Given the description of an element on the screen output the (x, y) to click on. 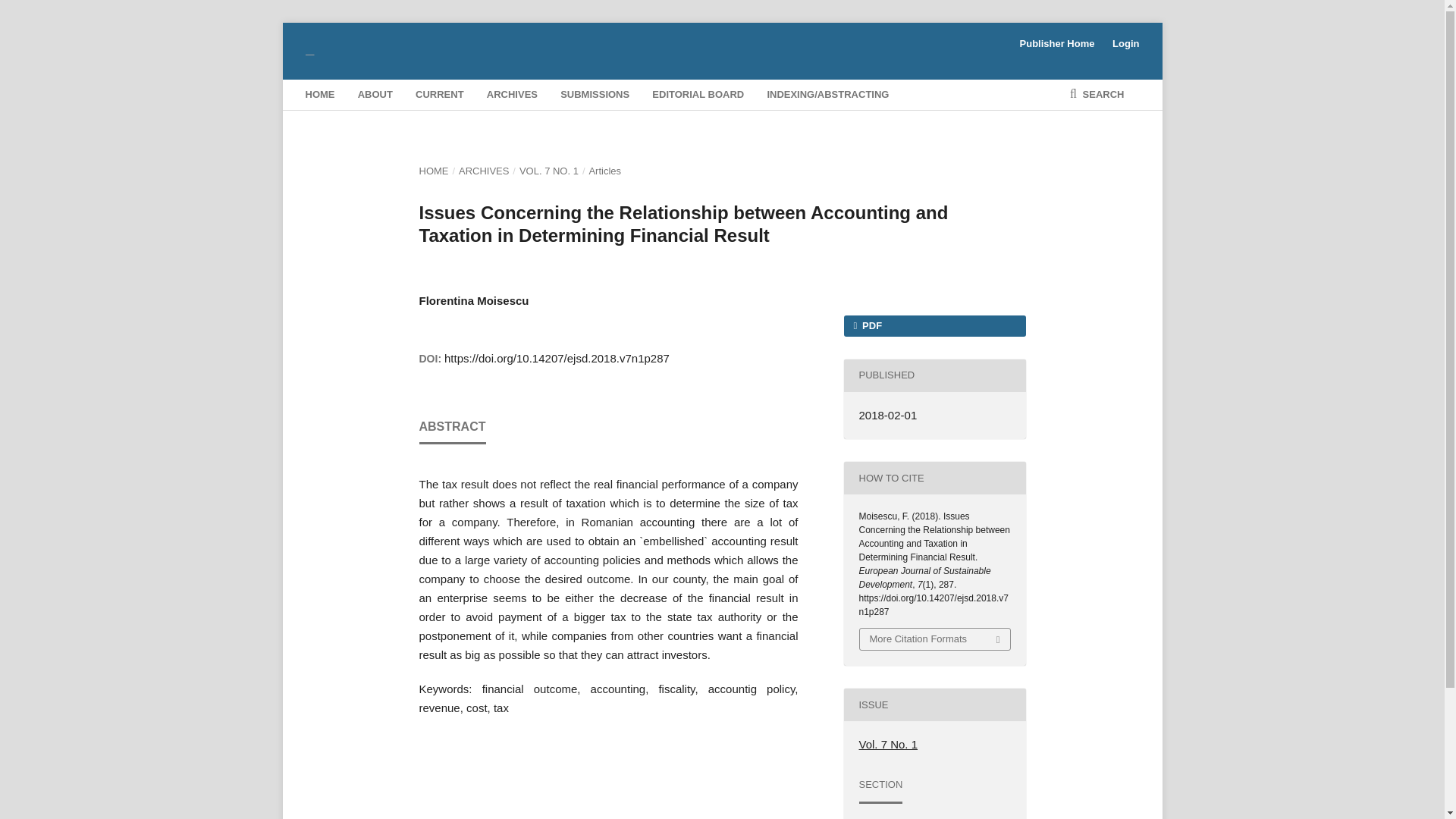
VOL. 7 NO. 1 (548, 171)
More Citation Formats (935, 639)
ARCHIVES (511, 94)
Login (1121, 43)
ABOUT (375, 94)
PDF (934, 325)
Publisher Home (1056, 43)
SEARCH (1096, 94)
SUBMISSIONS (594, 94)
EDITORIAL BOARD (698, 94)
